Given the description of an element on the screen output the (x, y) to click on. 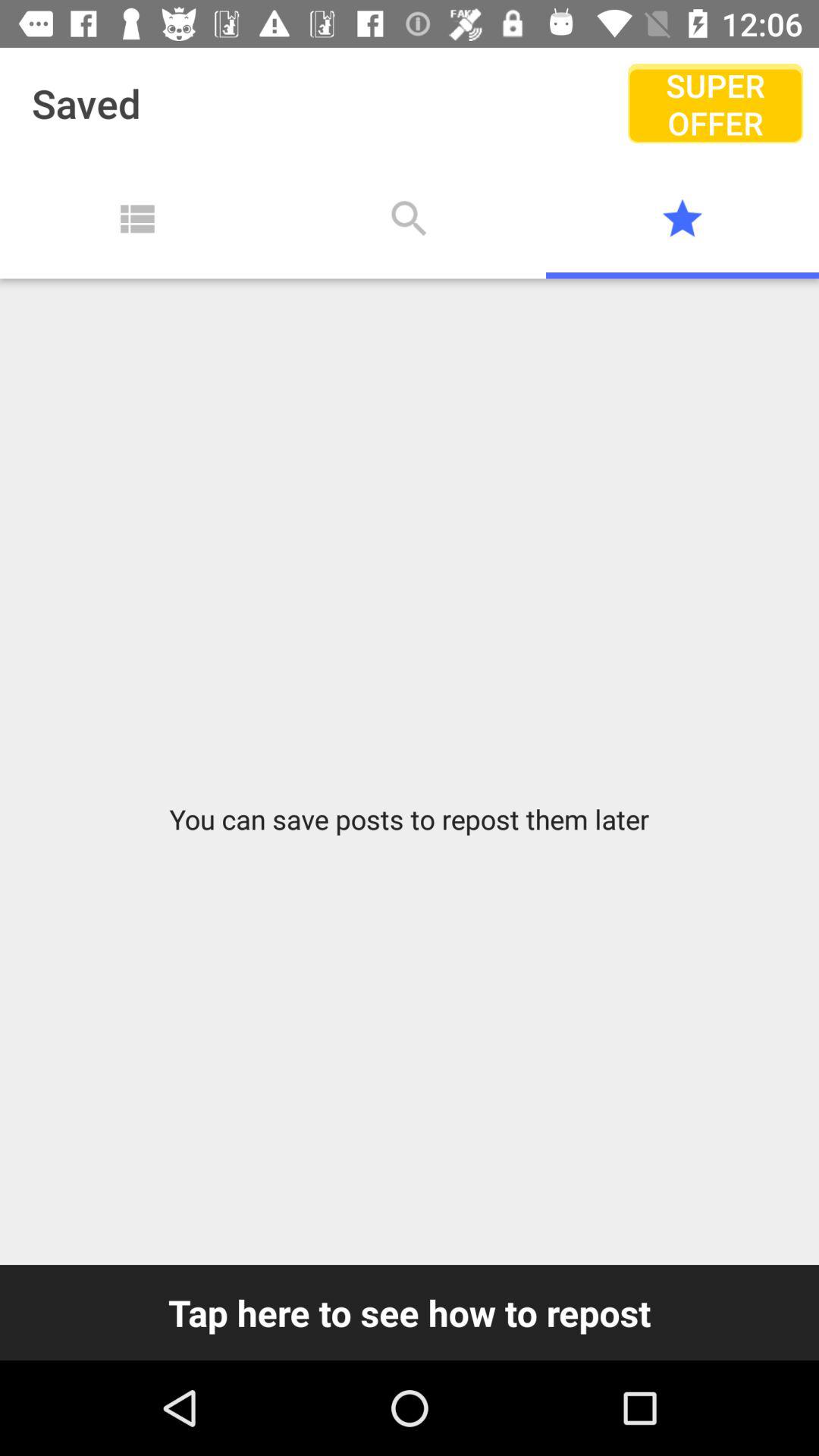
tap super
offer button (715, 103)
